Given the description of an element on the screen output the (x, y) to click on. 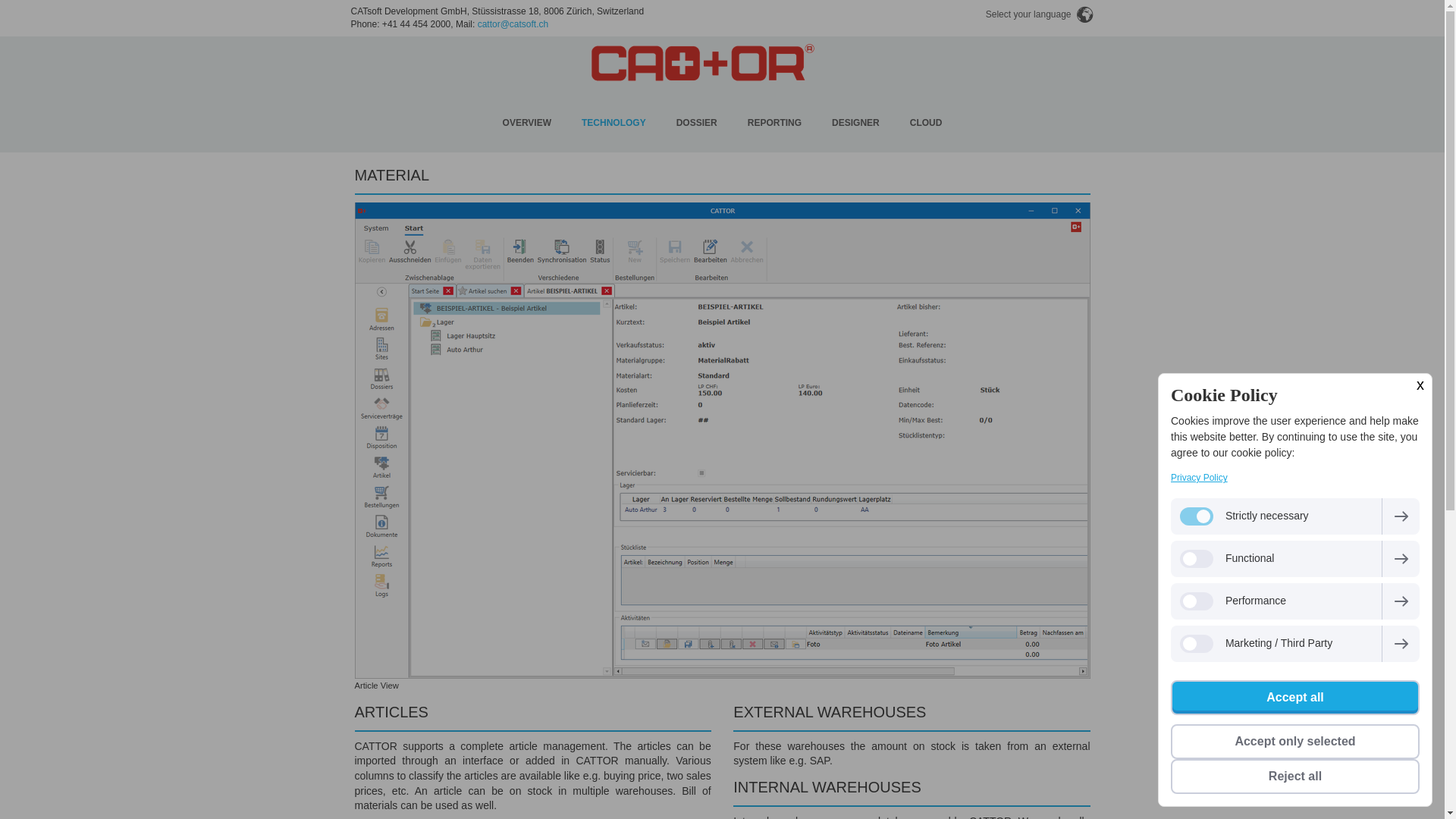
DESIGNER (855, 122)
Select your language (1037, 15)
TECHNOLOGY (613, 122)
OVERVIEW (526, 122)
CLOUD (926, 122)
REPORTING (774, 122)
DOSSIER (696, 122)
